Given the description of an element on the screen output the (x, y) to click on. 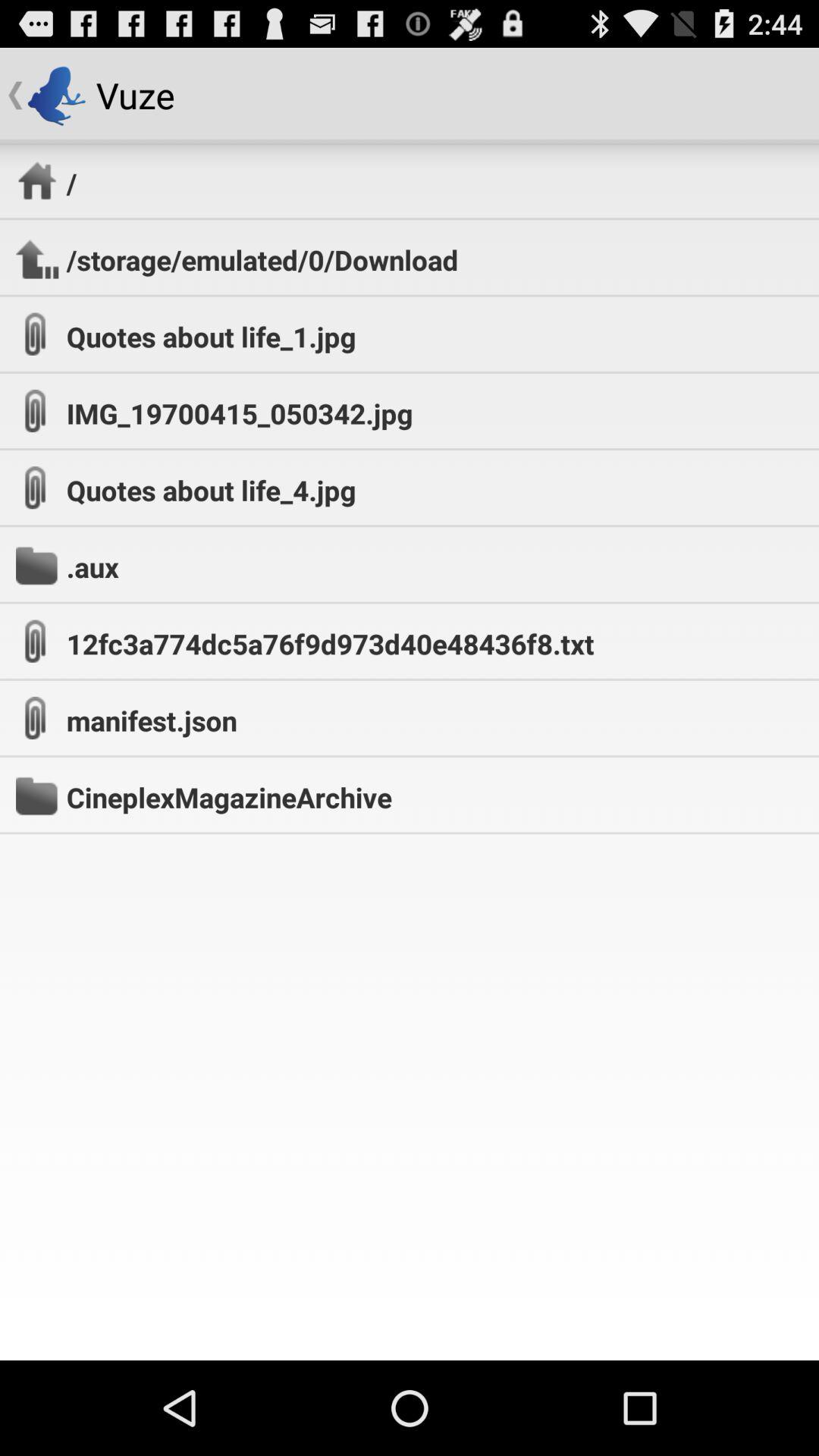
swipe to 12fc3a774dc5a76f9d973d40e48436f8.txt item (330, 643)
